Given the description of an element on the screen output the (x, y) to click on. 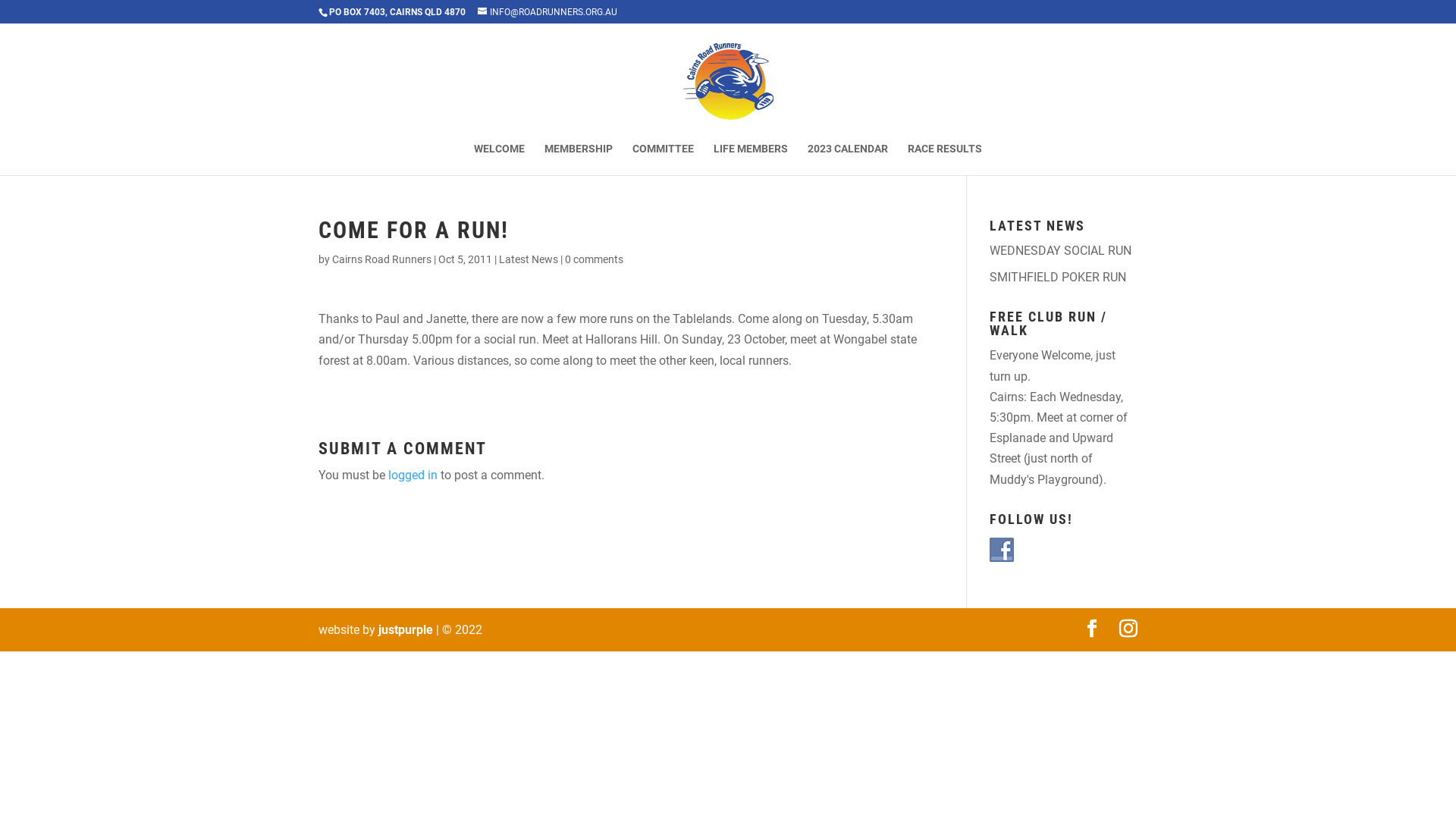
SMITHFIELD POKER RUN Element type: text (1057, 276)
RACE RESULTS Element type: text (944, 159)
Cairns Road Runners Element type: text (381, 259)
WELCOME Element type: text (498, 159)
LIFE MEMBERS Element type: text (750, 159)
logged in Element type: text (412, 474)
COMMITTEE Element type: text (662, 159)
Latest News Element type: text (528, 259)
MEMBERSHIP Element type: text (578, 159)
WEDNESDAY SOCIAL RUN Element type: text (1060, 250)
2023 CALENDAR Element type: text (847, 159)
Follow Us  Facebook Element type: hover (1001, 549)
0 comments Element type: text (593, 259)
INFO@ROADRUNNERS.ORG.AU Element type: text (547, 11)
justpurple Element type: text (405, 629)
